Given the description of an element on the screen output the (x, y) to click on. 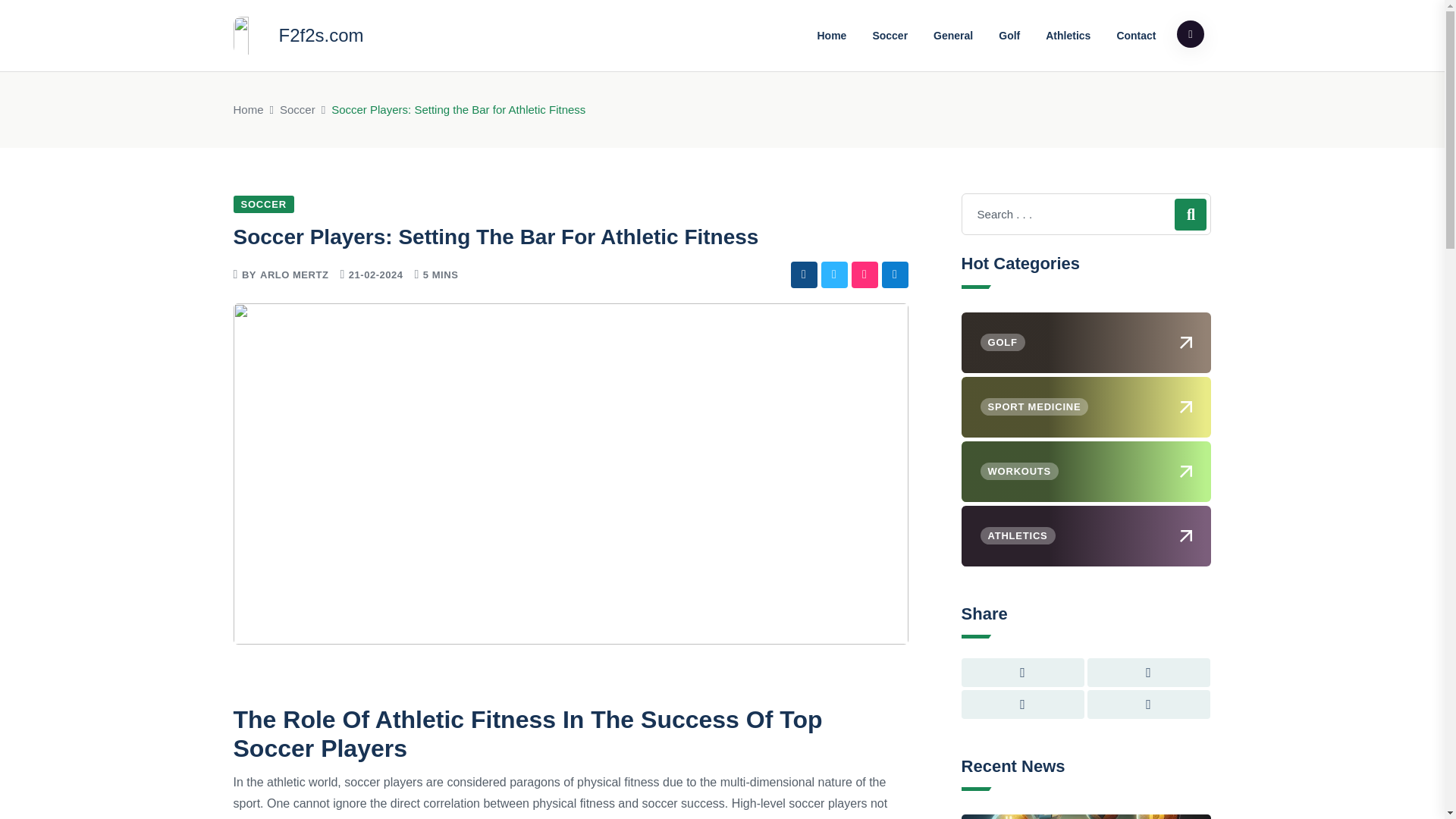
F2f2s.com (298, 35)
Soccer (297, 109)
SOCCER (263, 203)
GOLF (1085, 342)
Contact (1136, 35)
Athletics (1067, 35)
Home (247, 109)
ATHLETICS (1085, 536)
SPORT MEDICINE (1085, 406)
General (952, 35)
ARLO MERTZ (294, 274)
WORKOUTS (1085, 471)
